Given the description of an element on the screen output the (x, y) to click on. 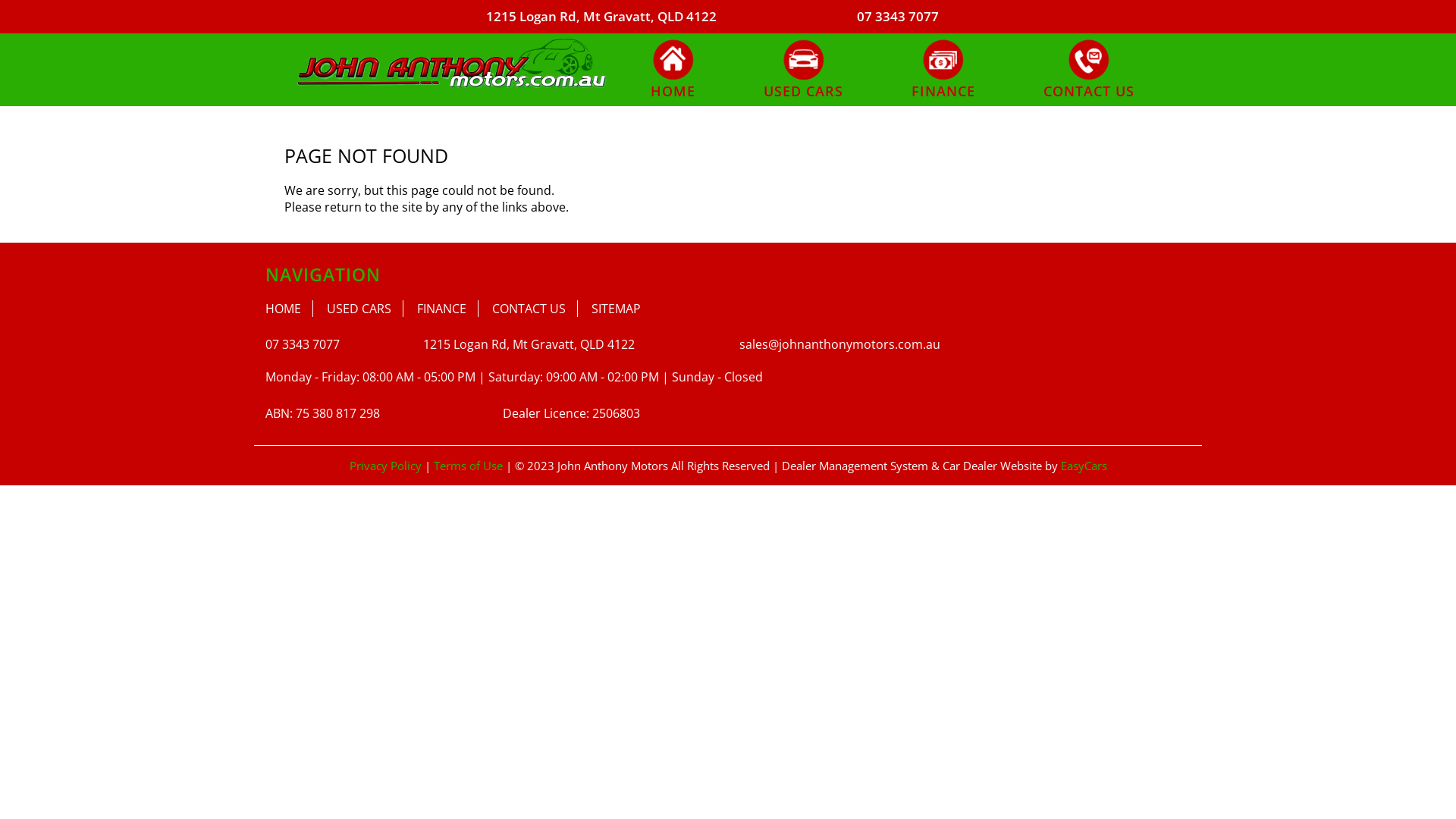
1215 Logan Rd, Mt Gravatt, QLD 4122 Element type: text (601, 16)
EasyCars Element type: text (1083, 465)
07 3343 7077 Element type: text (897, 16)
CONTACT US Element type: text (534, 308)
CONTACT US Element type: text (1088, 67)
USED CARS Element type: text (364, 308)
FINANCE Element type: text (447, 308)
07 3343 7077 Element type: text (302, 343)
SITEMAP Element type: text (615, 308)
Terms of Use Element type: text (469, 465)
1215 Logan Rd, Mt Gravatt, QLD 4122 Element type: text (528, 343)
HOME Element type: text (289, 308)
Privacy Policy Element type: text (385, 465)
USED CARS Element type: text (802, 67)
sales@johnanthonymotors.com.au Element type: text (839, 343)
FINANCE Element type: text (942, 67)
HOME Element type: text (673, 67)
